Given the description of an element on the screen output the (x, y) to click on. 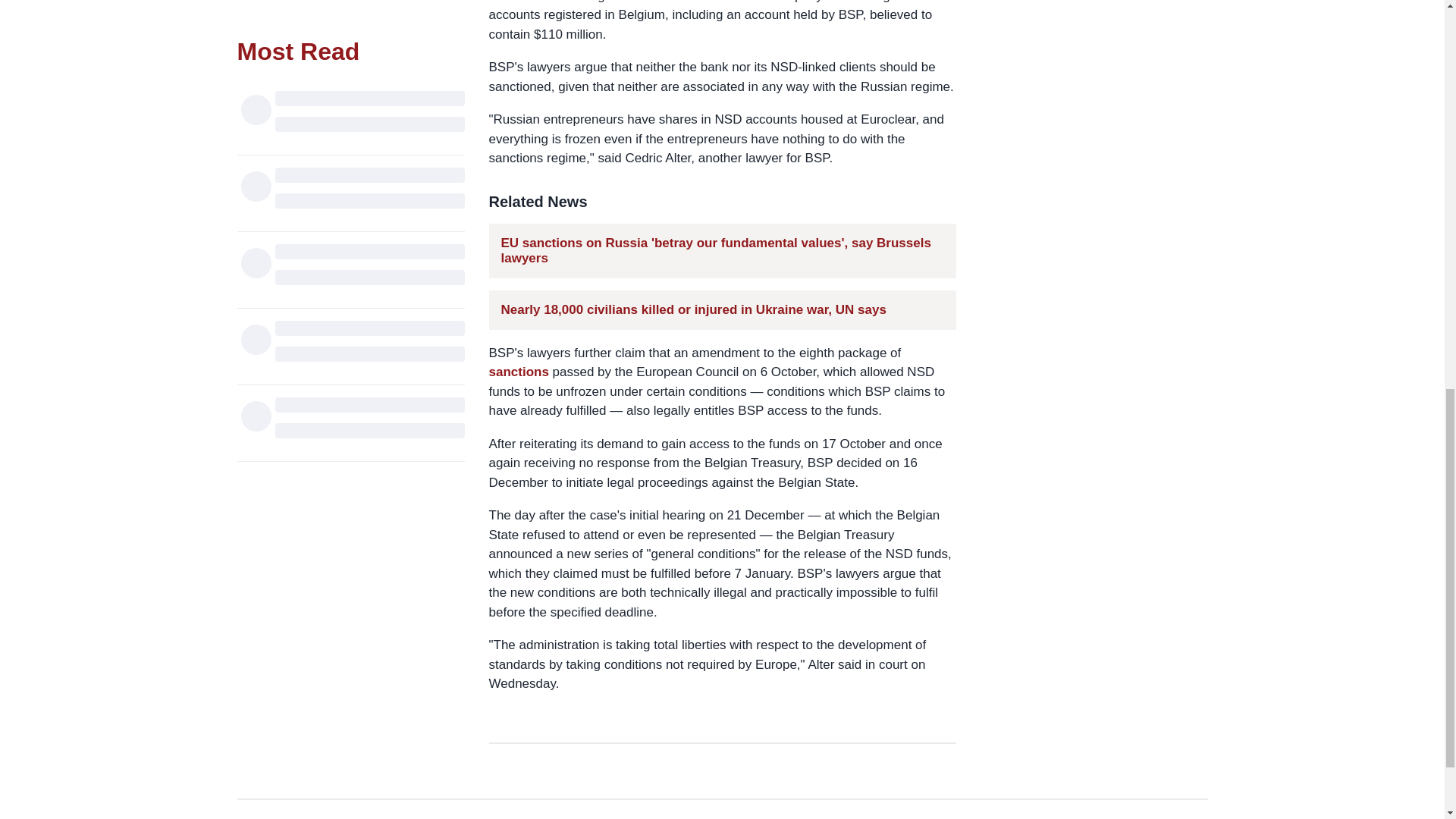
sanctions (517, 371)
Euroclear (517, 1)
